Given the description of an element on the screen output the (x, y) to click on. 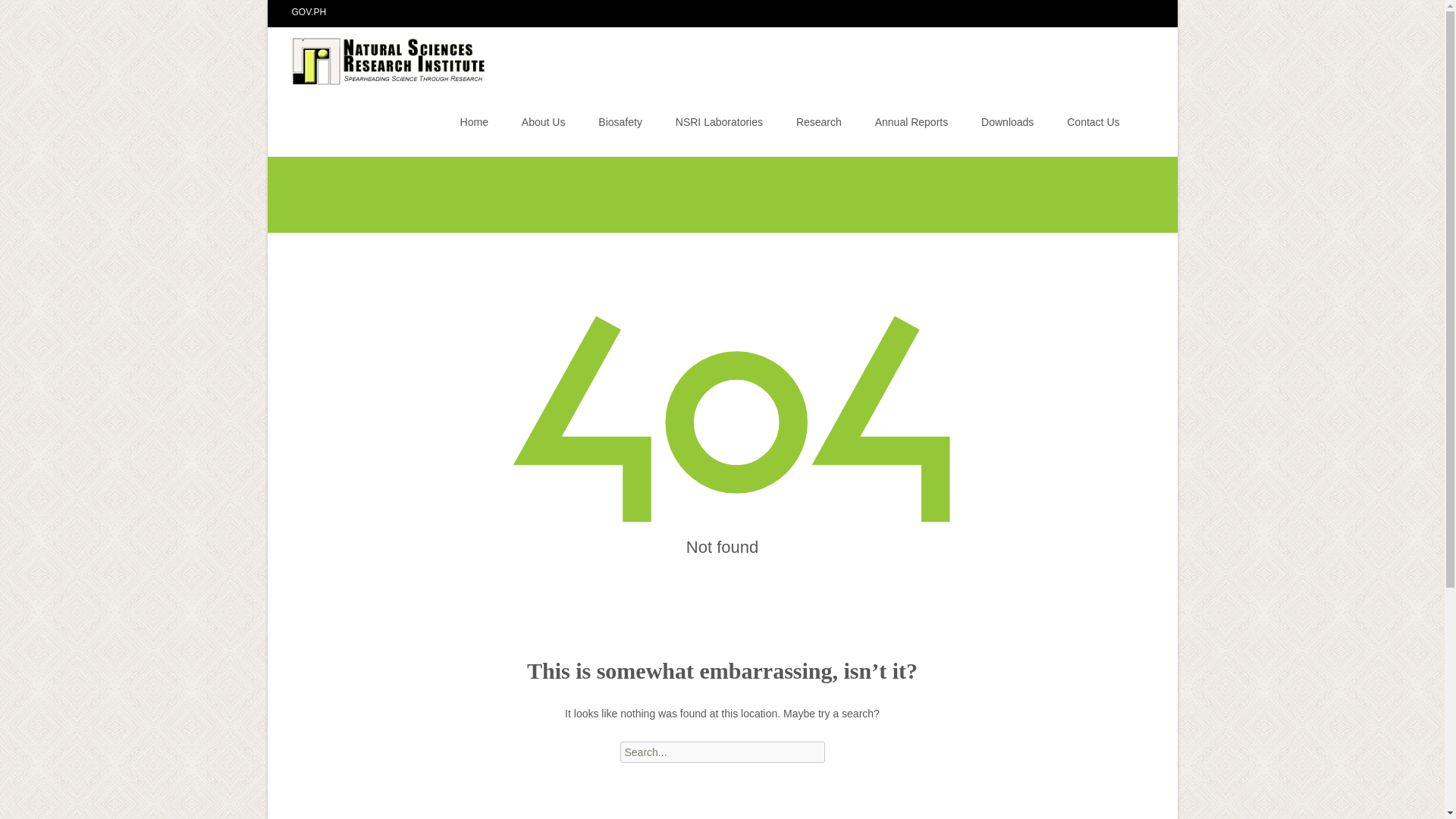
Search (34, 14)
GOV.PH (308, 11)
Natural Sciences Research Institute (378, 57)
Search (18, 14)
Search for: (722, 752)
Annual Reports (912, 121)
NSRI Laboratories (718, 121)
Search for: (1139, 123)
